Given the description of an element on the screen output the (x, y) to click on. 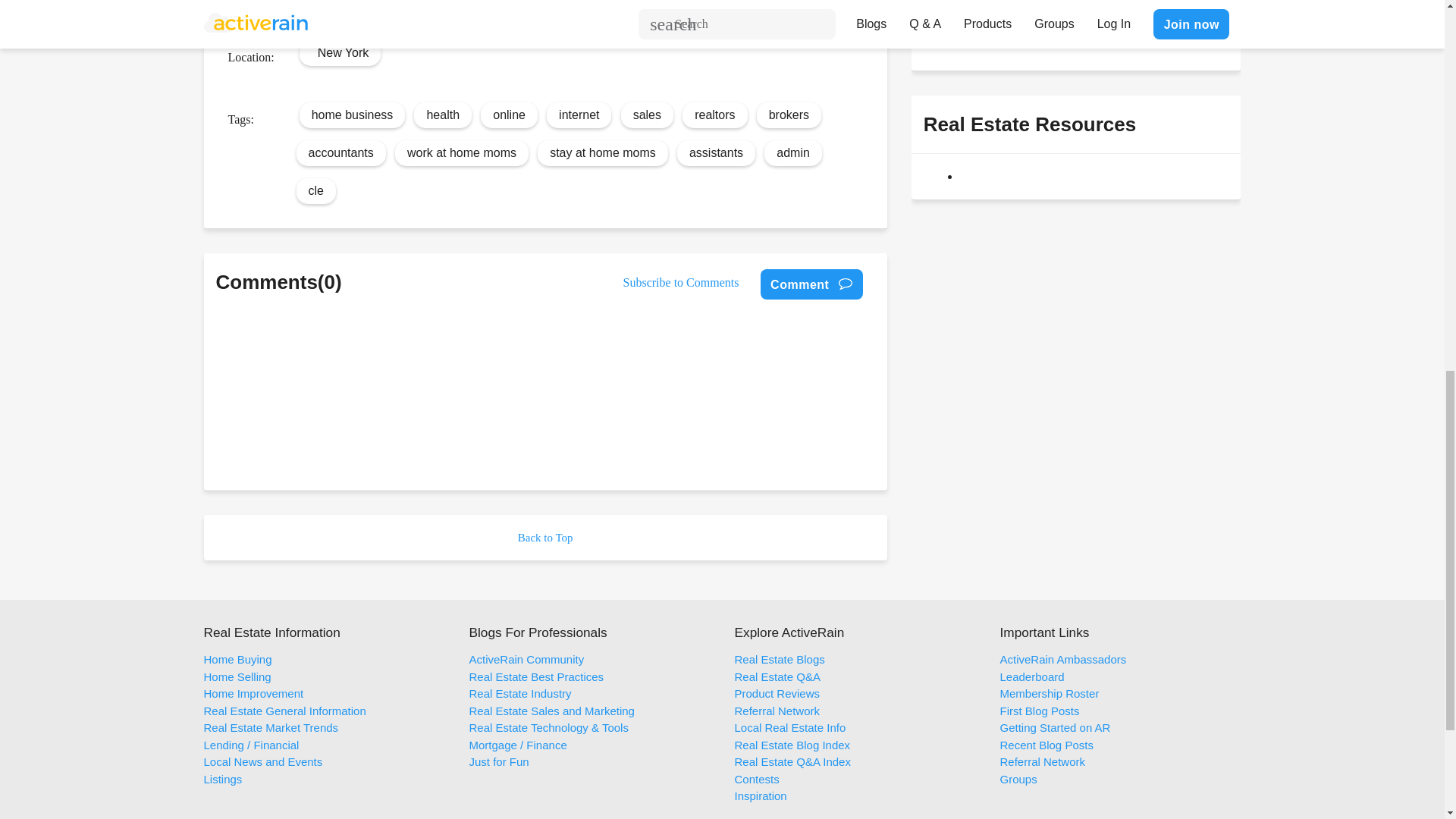
health (443, 113)
New York (343, 51)
Send Message (978, 30)
online (509, 113)
home business (352, 113)
